Given the description of an element on the screen output the (x, y) to click on. 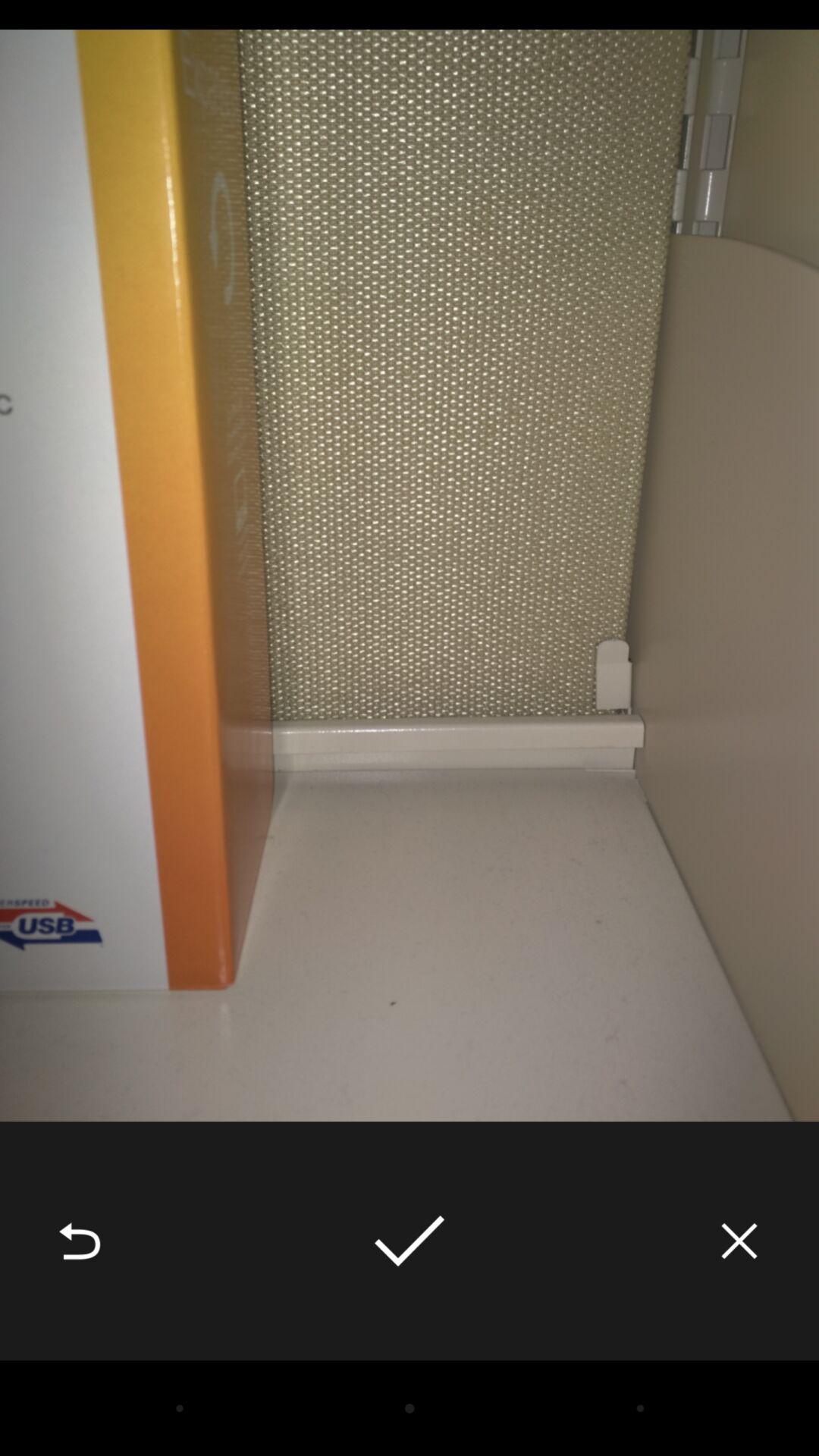
launch the item at the bottom right corner (739, 1240)
